Given the description of an element on the screen output the (x, y) to click on. 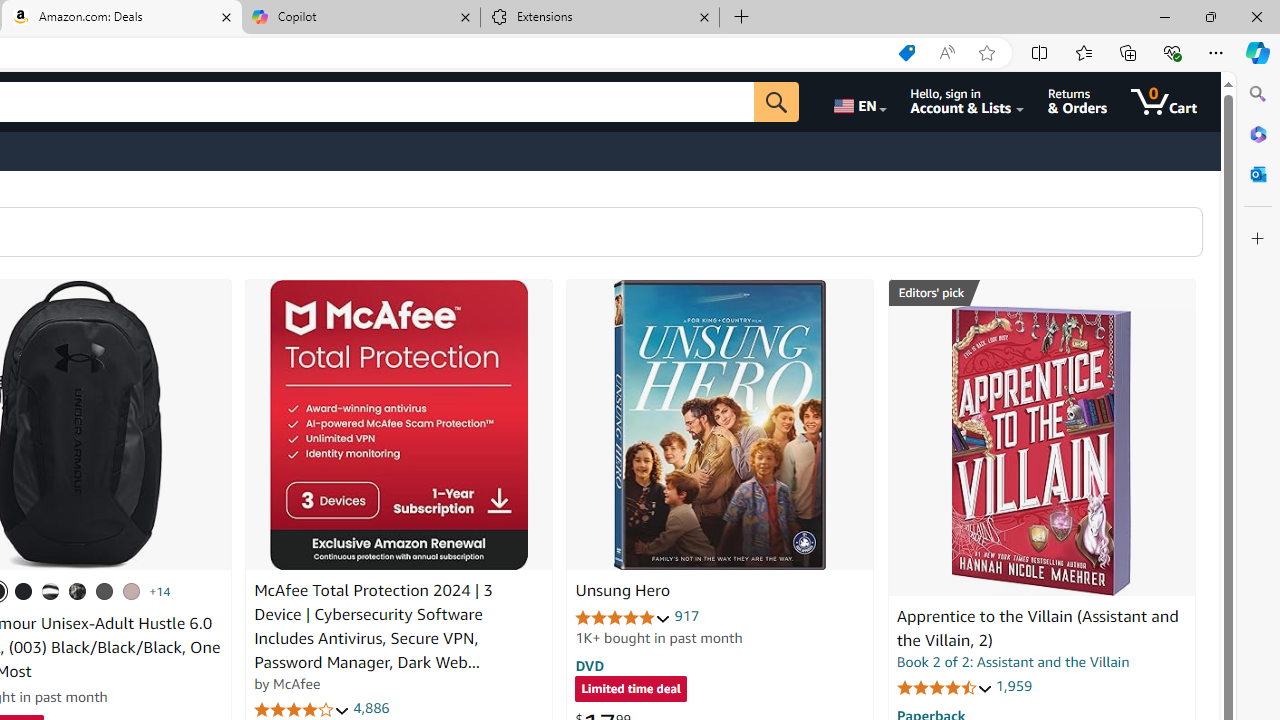
Book 2 of 2: Assistant and the Villain (1013, 662)
1,959 (1013, 686)
(002) Black / Black / White (51, 591)
